Given the description of an element on the screen output the (x, y) to click on. 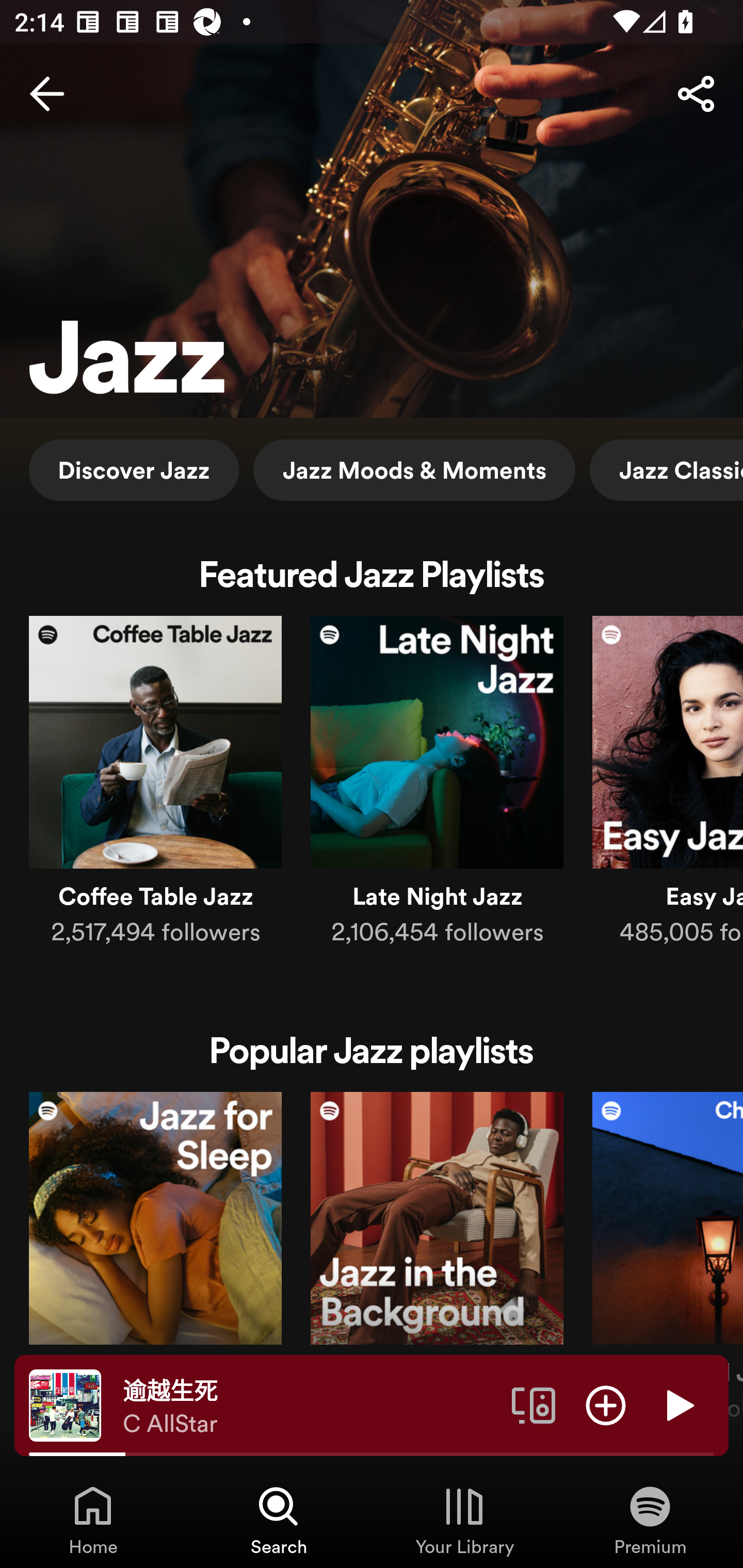
Back (46, 93)
Share Menu (695, 93)
Discover Jazz (133, 469)
Jazz Moods & Moments (414, 469)
Jazz Classics (666, 469)
逾越生死 C AllStar (309, 1405)
The cover art of the currently playing track (64, 1404)
Connect to a device. Opens the devices menu (533, 1404)
Add item (605, 1404)
Play (677, 1404)
Home, Tab 1 of 4 Home Home (92, 1519)
Search, Tab 2 of 4 Search Search (278, 1519)
Your Library, Tab 3 of 4 Your Library Your Library (464, 1519)
Premium, Tab 4 of 4 Premium Premium (650, 1519)
